Given the description of an element on the screen output the (x, y) to click on. 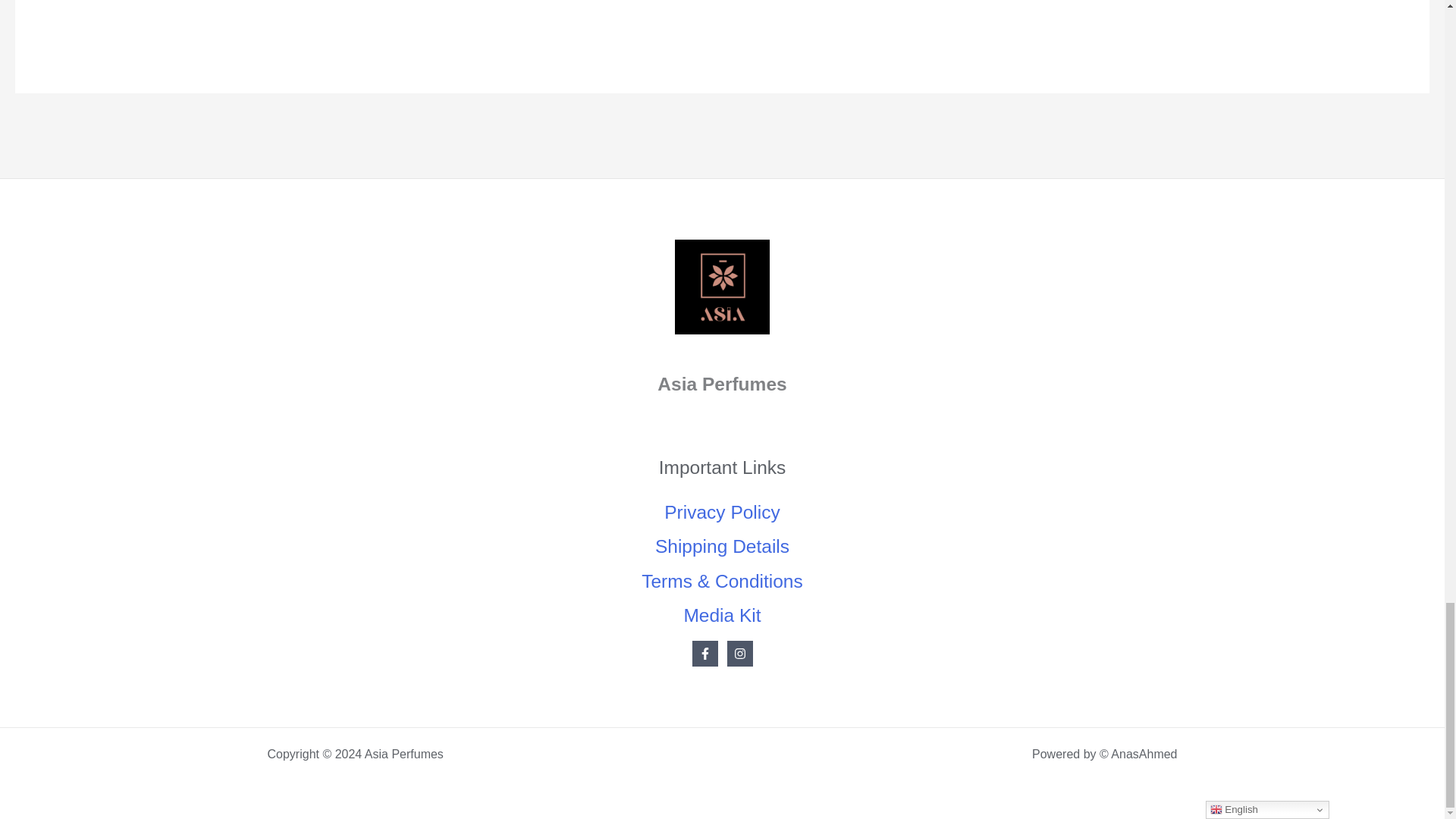
Privacy Policy (721, 512)
Media Kit (721, 615)
Shipping Details (722, 546)
